Given the description of an element on the screen output the (x, y) to click on. 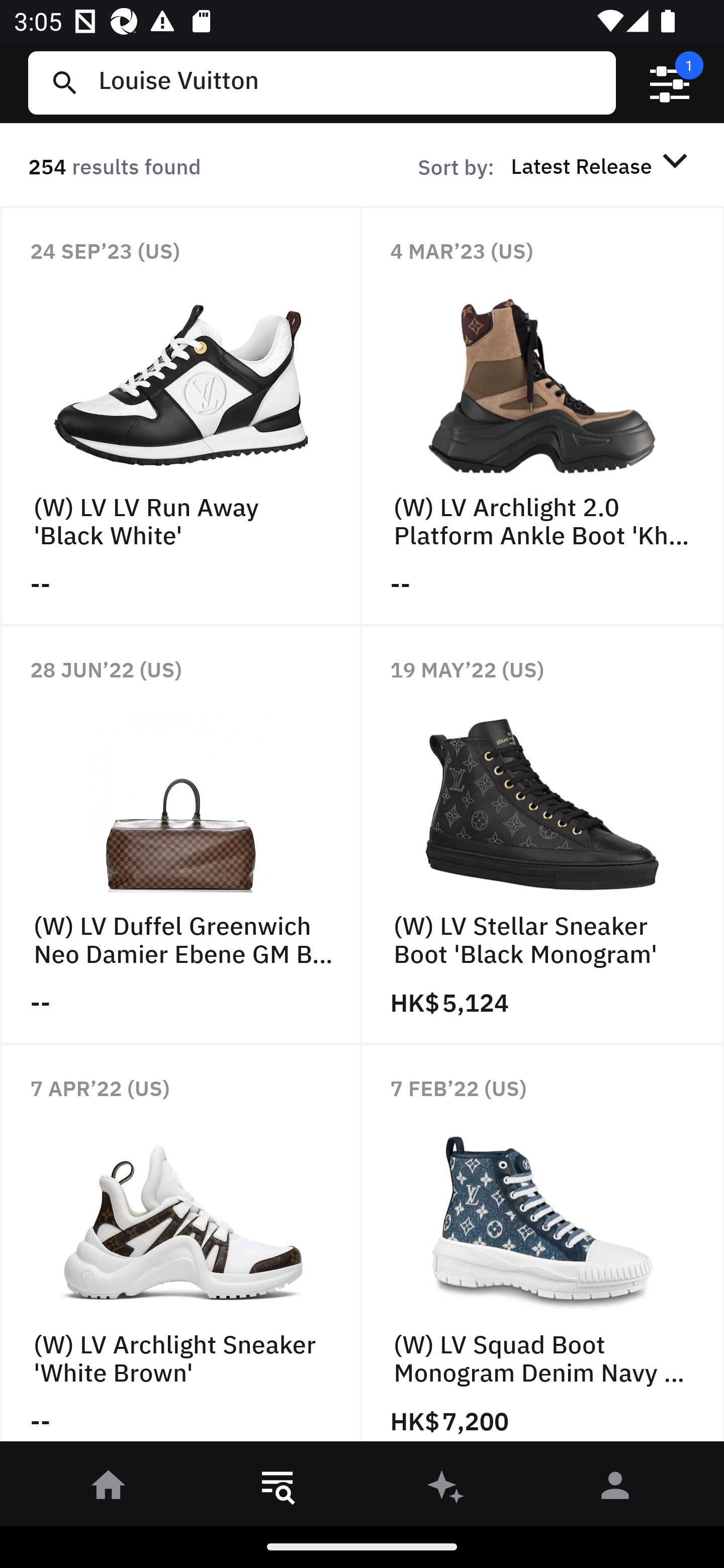
Louise Vuitton (349, 82)
 (669, 82)
Latest Release  (602, 165)
24 SEP’23 (US) (W) LV LV Run Away 'Black White' -- (181, 415)
󰋜 (108, 1488)
󱎸 (277, 1488)
󰫢 (446, 1488)
󰀄 (615, 1488)
